Given the description of an element on the screen output the (x, y) to click on. 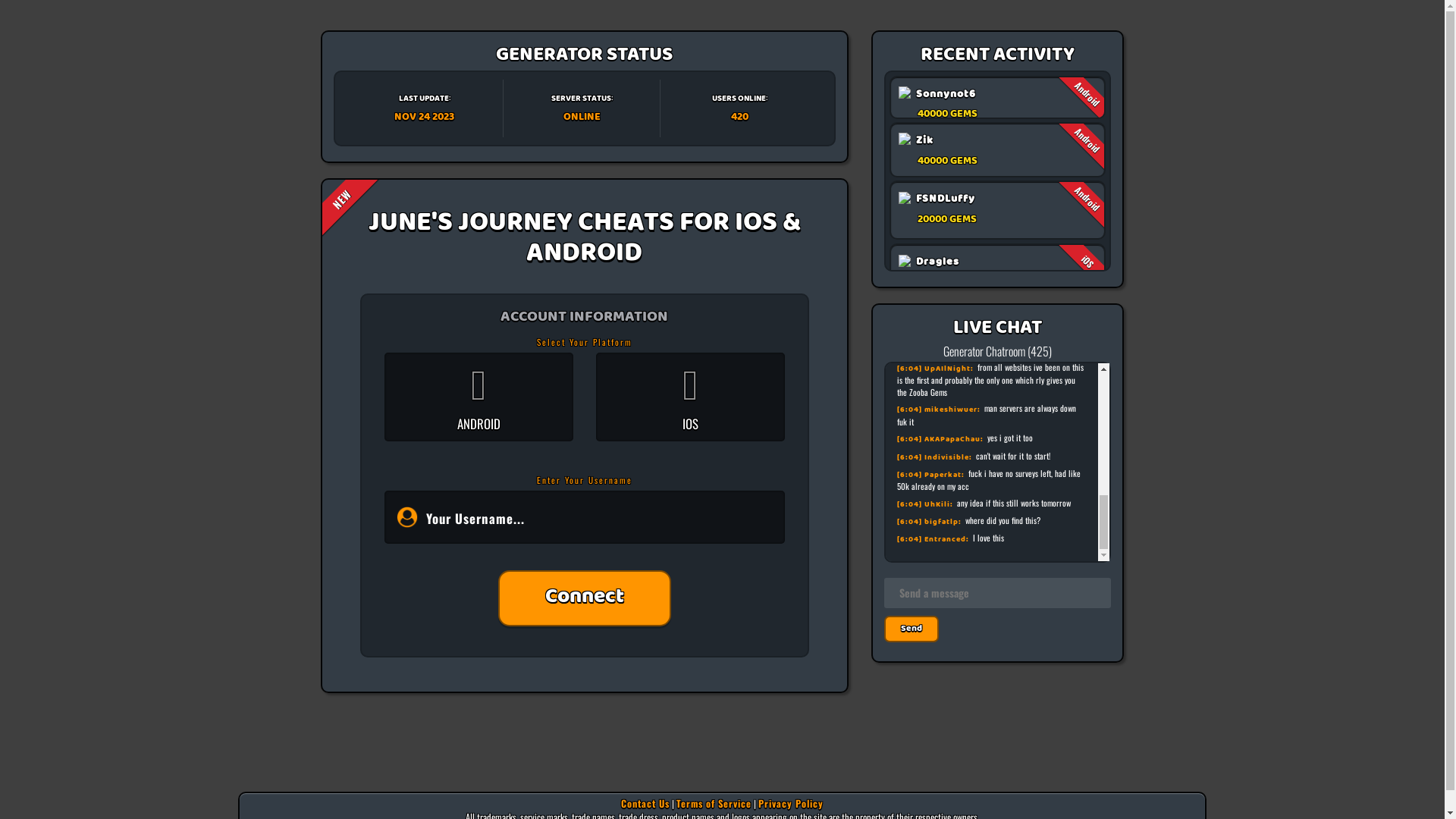
Terms of Service Element type: text (713, 803)
Privacy Policy Element type: text (790, 803)
Connect Element type: text (584, 598)
Contact Us Element type: text (645, 803)
